Given the description of an element on the screen output the (x, y) to click on. 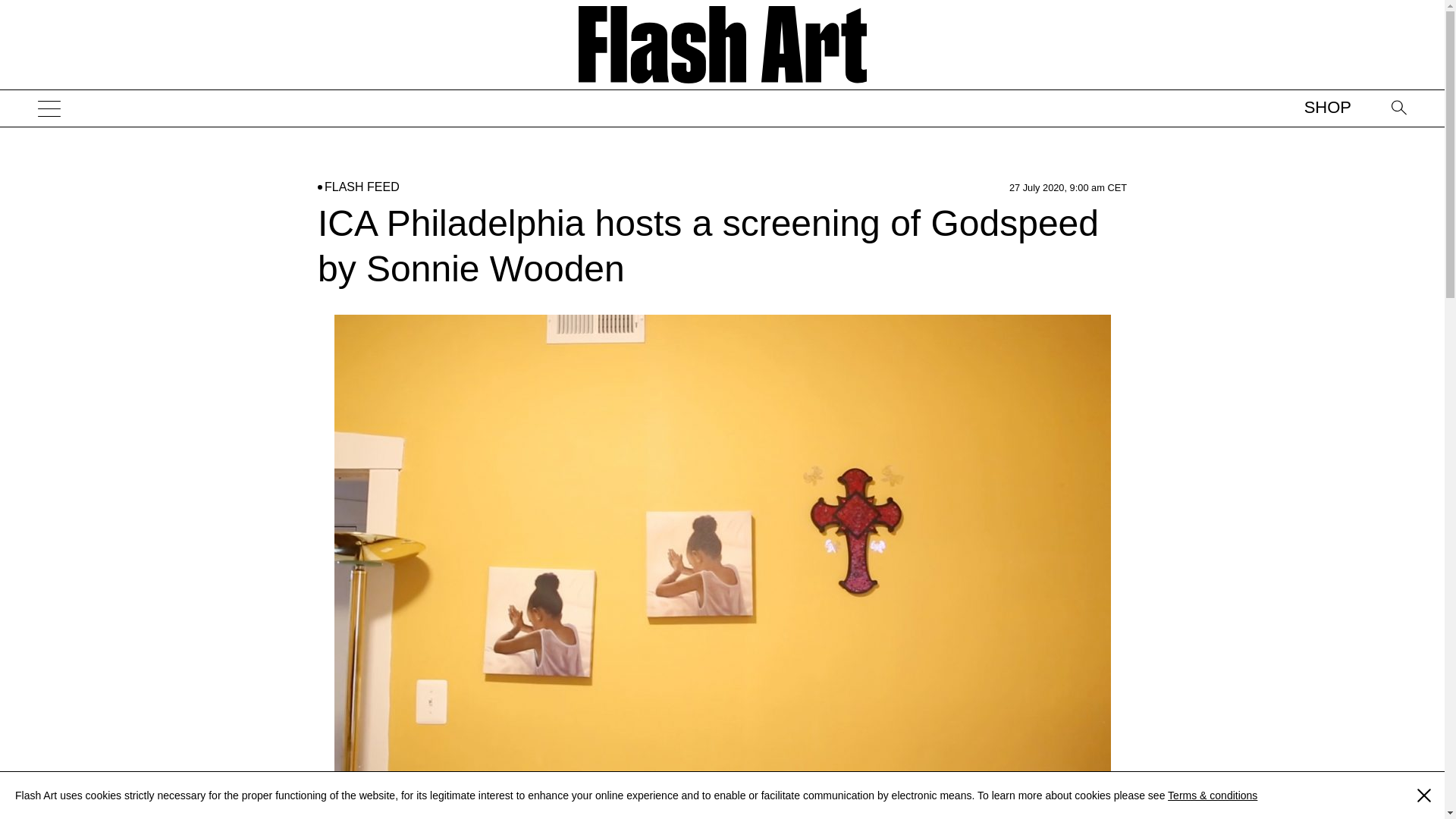
Search (1390, 166)
SHOP (1327, 107)
FLASH FEED (361, 186)
